Given the description of an element on the screen output the (x, y) to click on. 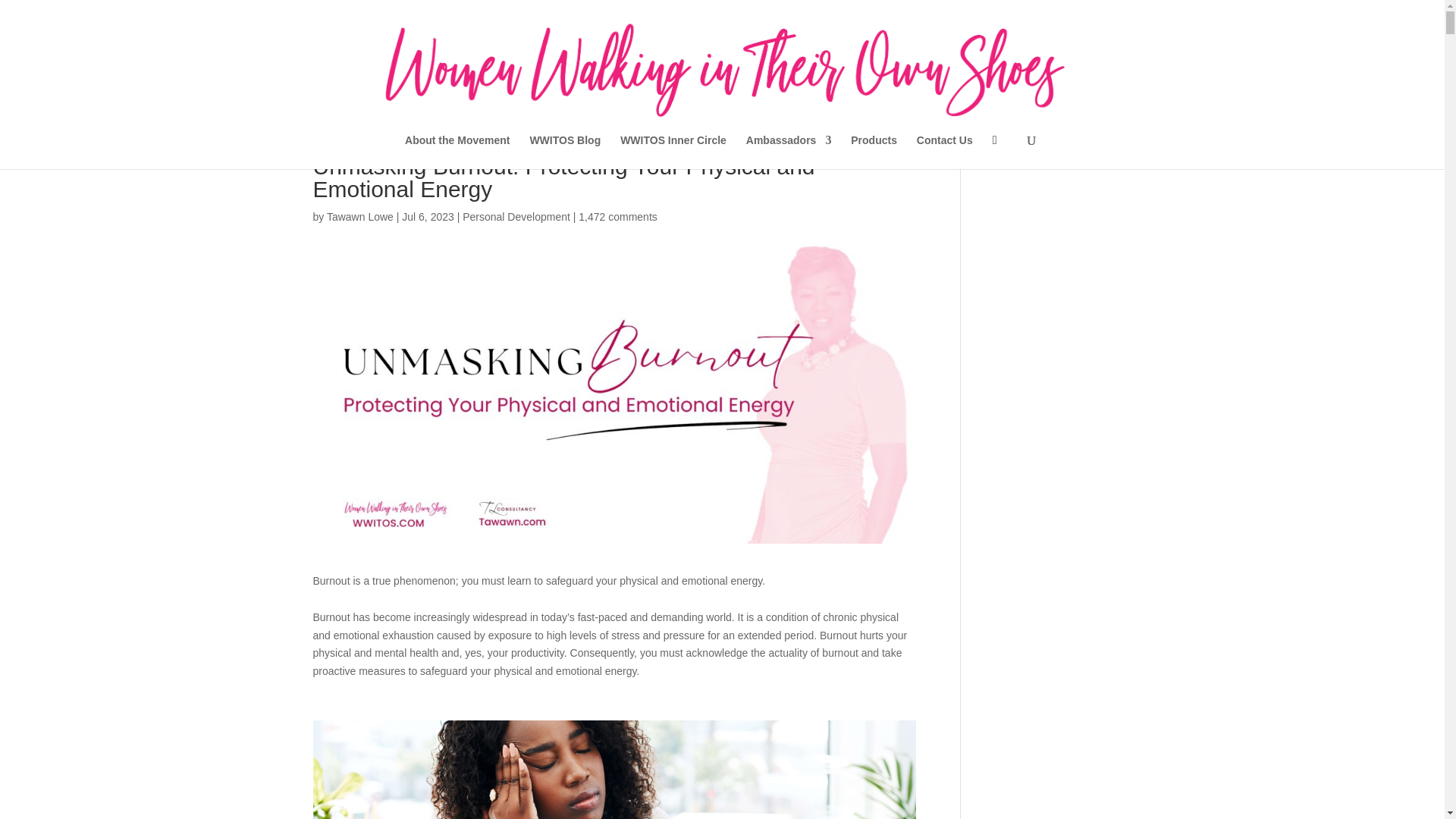
WWITOS Inner Circle (673, 151)
Tawawn Lowe (359, 216)
1,472 comments (618, 216)
About the Movement (456, 151)
Contact Us (944, 151)
Ambassadors (788, 151)
Products (873, 151)
WWITOS Blog (564, 151)
Personal Development (516, 216)
Posts by Tawawn Lowe (359, 216)
